Given the description of an element on the screen output the (x, y) to click on. 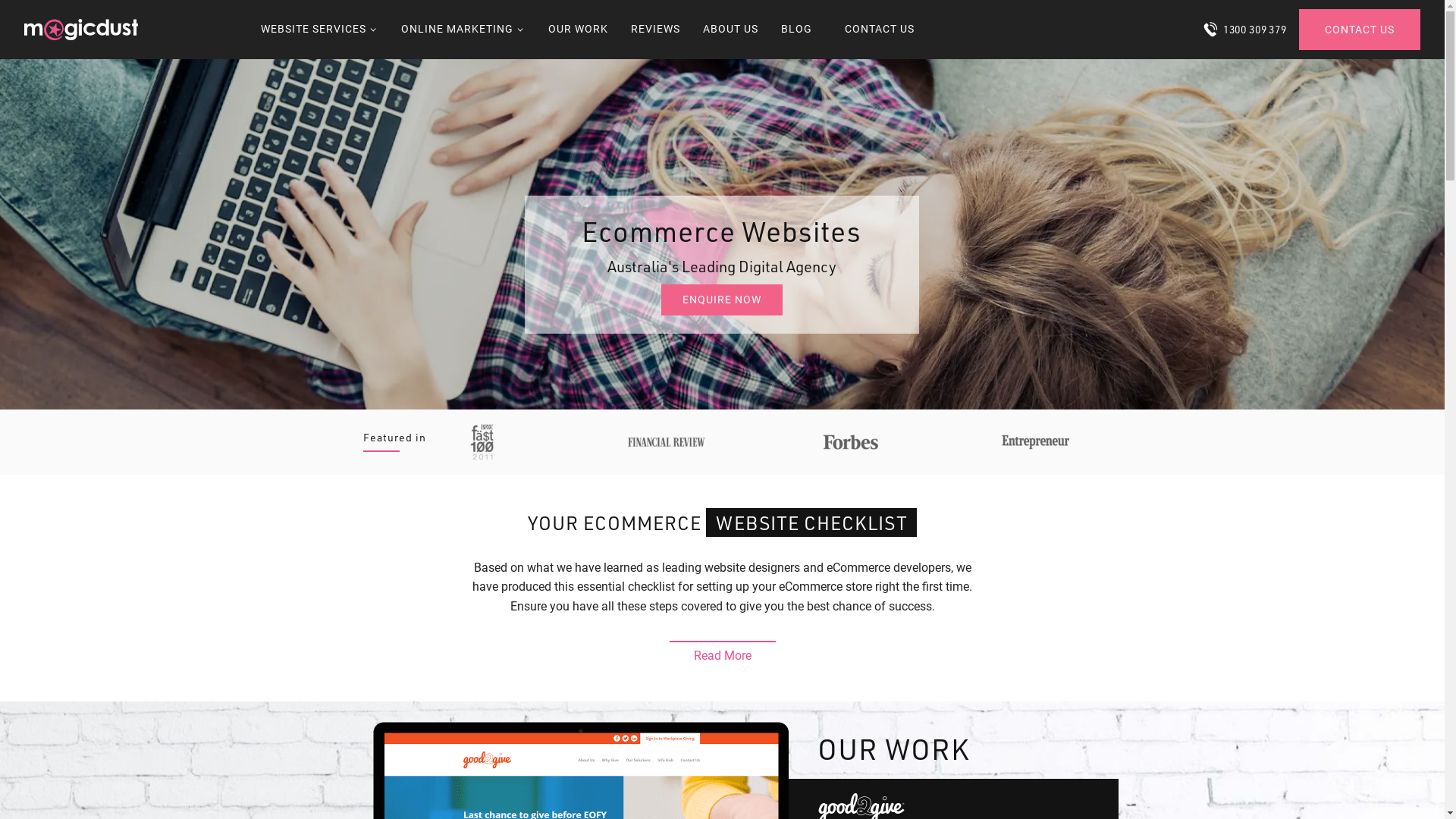
CONTACT US Element type: text (1359, 29)
BLOG Element type: text (796, 29)
WEBSITE SERVICES Element type: text (319, 29)
ONLINE MARKETING Element type: text (463, 29)
ENQUIRE NOW Element type: text (721, 299)
OUR WORK Element type: text (578, 29)
REVIEWS Element type: text (655, 29)
ABOUT US Element type: text (730, 29)
Read More Element type: text (721, 651)
1300 309 379 Element type: text (1244, 29)
CONTACT US Element type: text (879, 29)
